Given the description of an element on the screen output the (x, y) to click on. 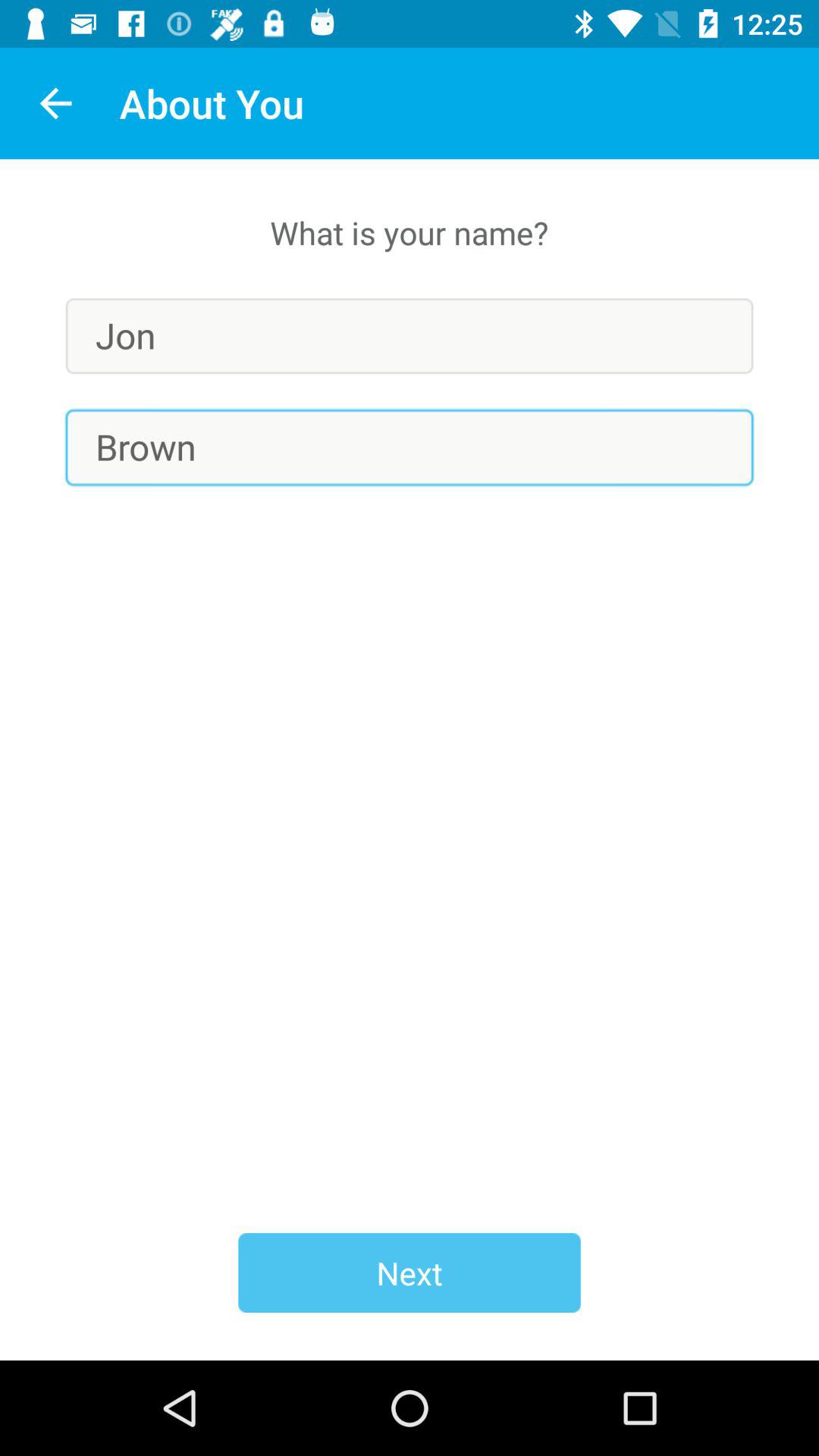
turn on the next icon (409, 1272)
